Given the description of an element on the screen output the (x, y) to click on. 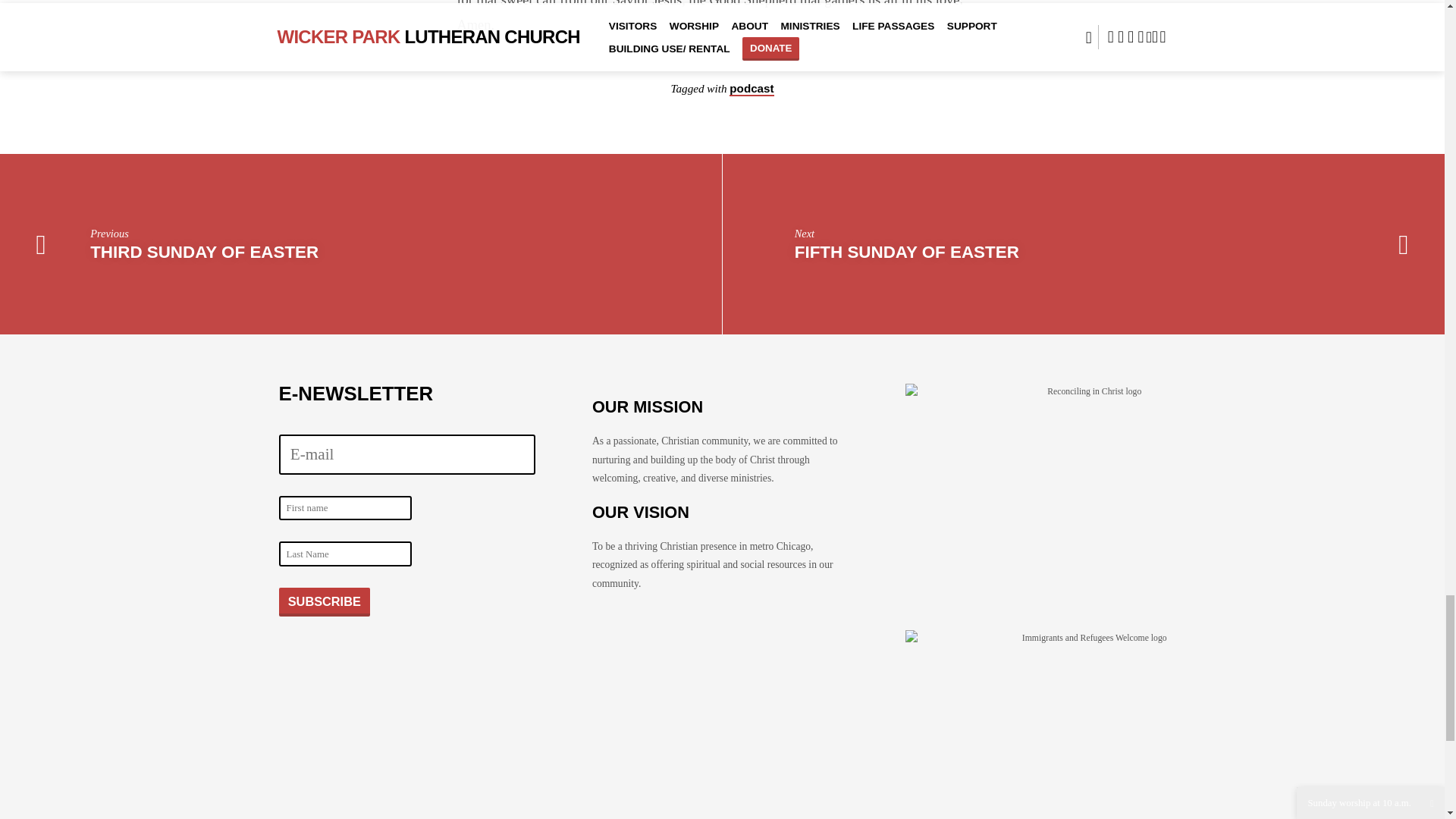
Subscribe (325, 602)
